Given the description of an element on the screen output the (x, y) to click on. 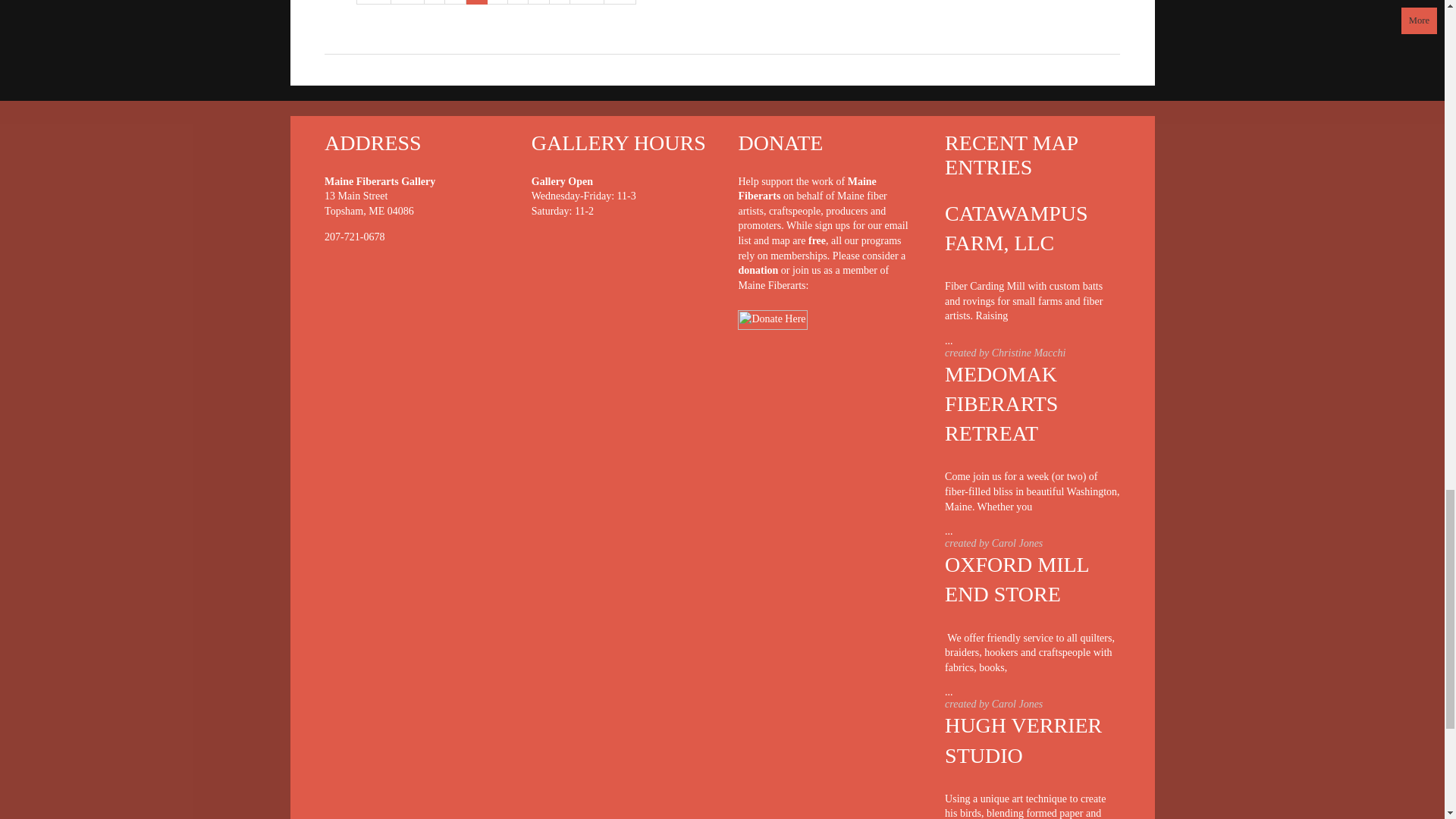
Prev (408, 2)
5 (518, 2)
Start (373, 2)
2 (455, 2)
4 (497, 2)
1 (435, 2)
